Given the description of an element on the screen output the (x, y) to click on. 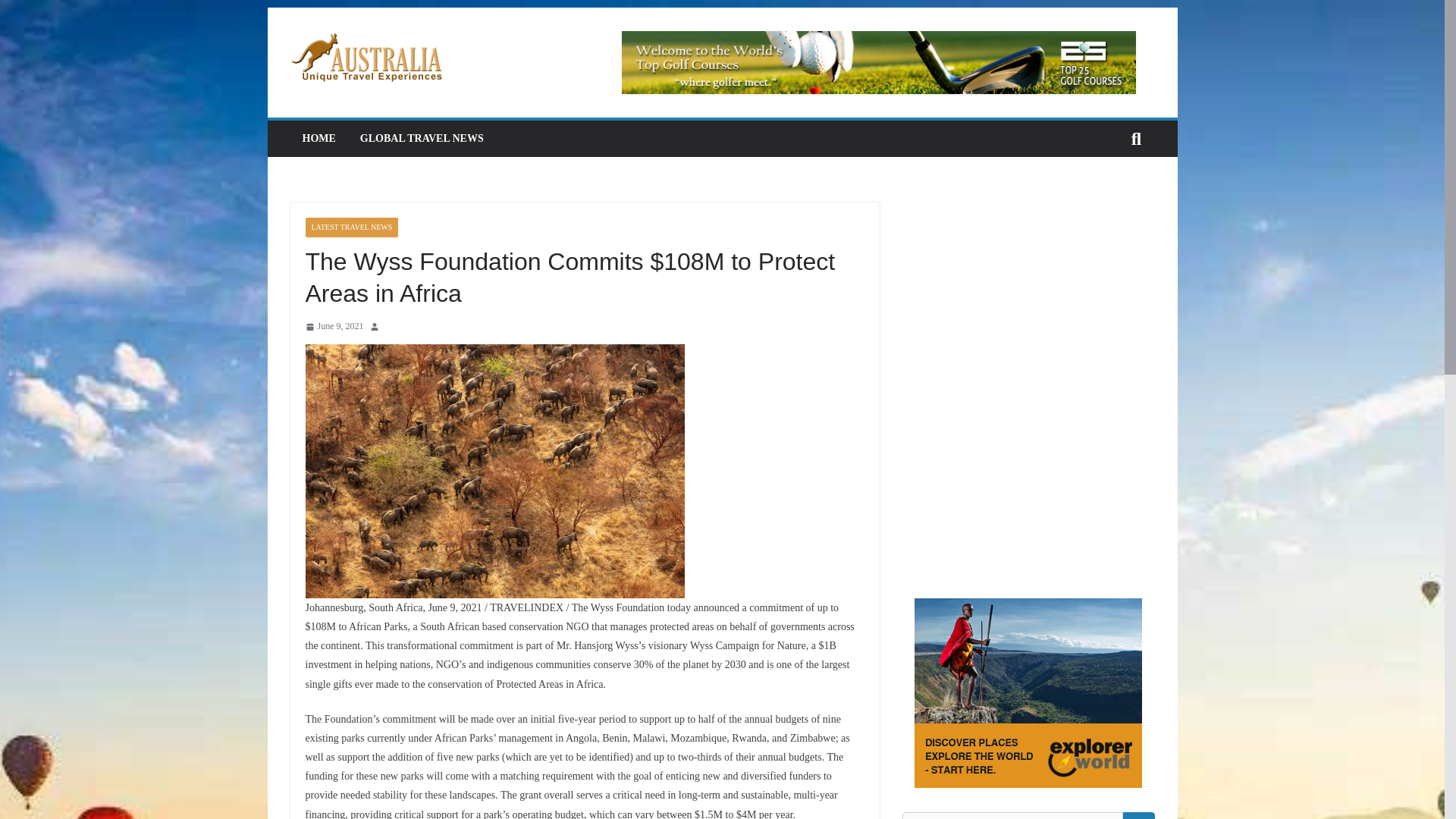
LATEST TRAVEL NEWS (350, 227)
GLOBAL TRAVEL NEWS (421, 138)
June 9, 2021 (333, 326)
HOME (317, 138)
5:43 am (333, 326)
